Given the description of an element on the screen output the (x, y) to click on. 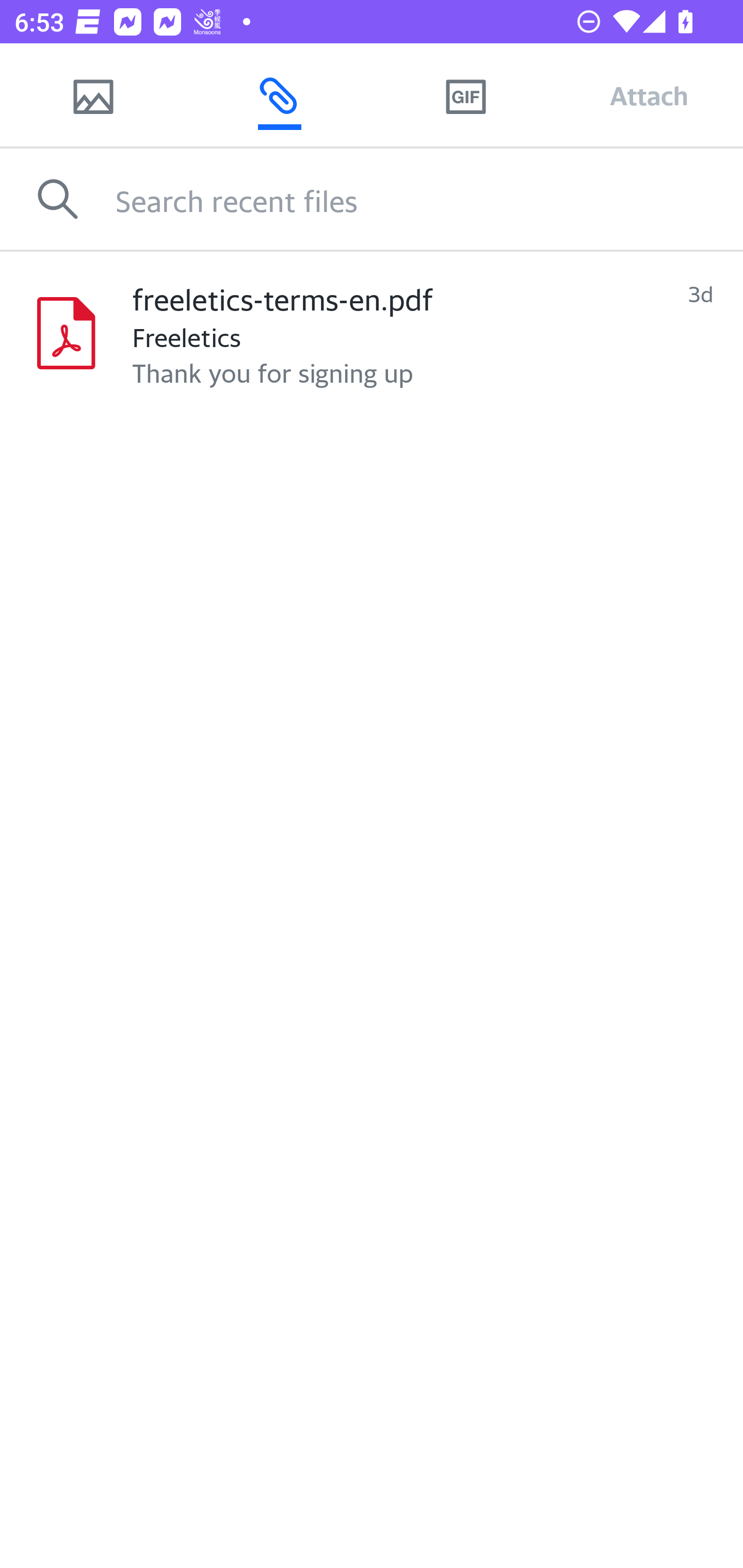
Camera photos (93, 95)
Recent attachments from mail (279, 95)
GIFs (465, 95)
Attach (649, 95)
Search recent files (429, 198)
